Given the description of an element on the screen output the (x, y) to click on. 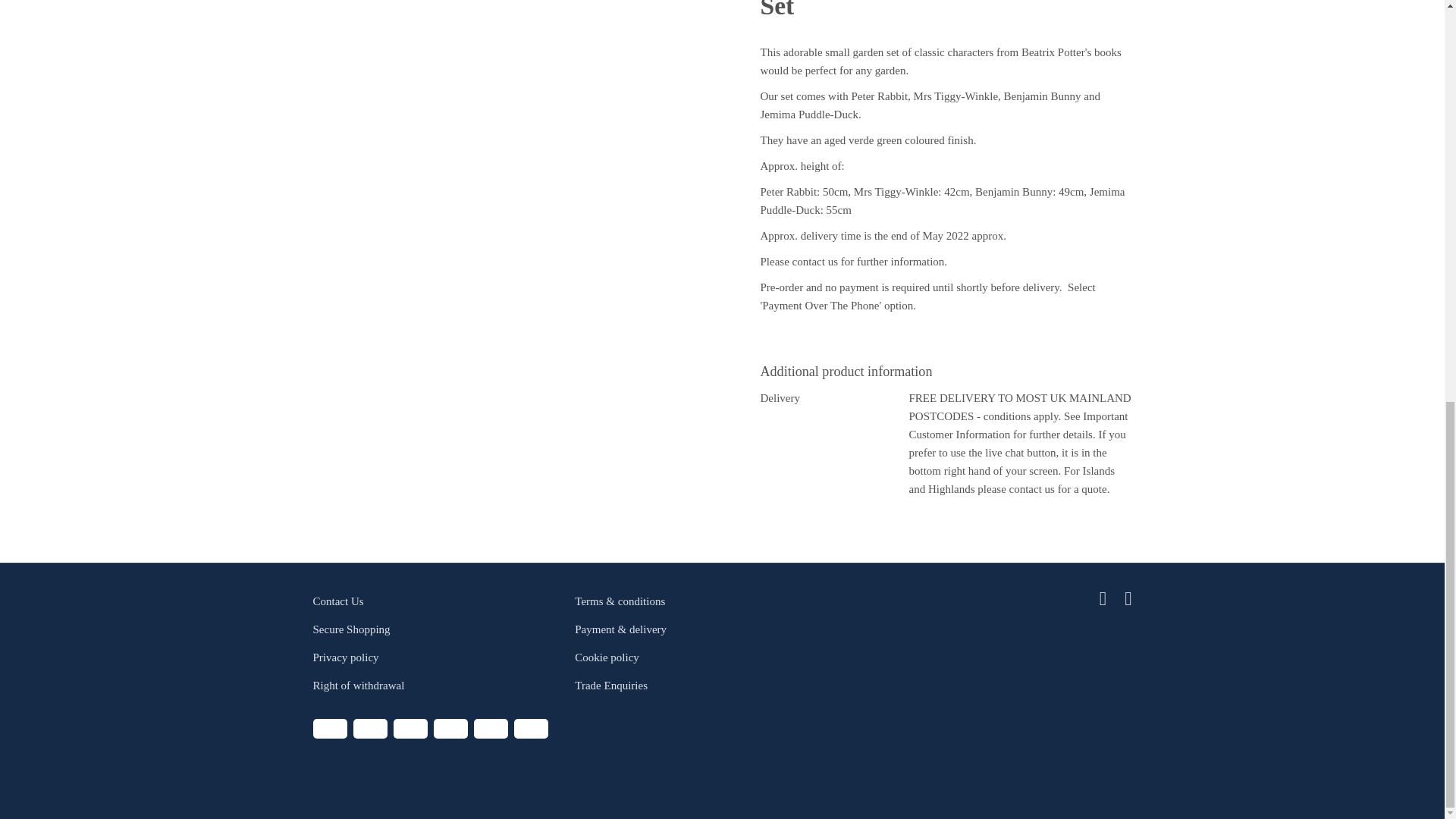
Right of withdrawal (358, 685)
Trade Enquiries (611, 685)
Privacy policy (345, 657)
Cookie policy (607, 657)
Secure Shopping (351, 629)
Contact Us (337, 601)
